Given the description of an element on the screen output the (x, y) to click on. 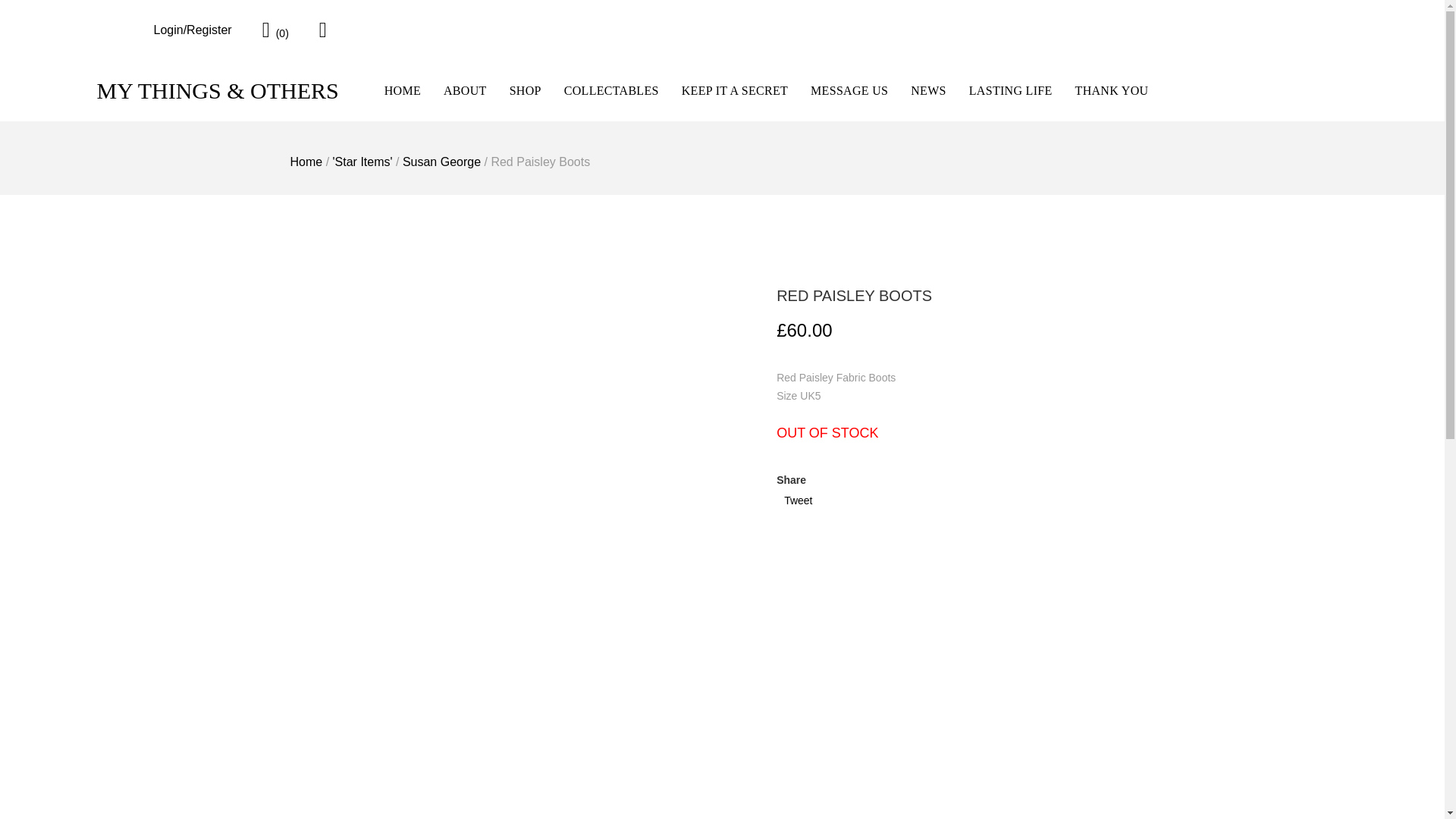
'Star Items' (363, 161)
LASTING LIFE (1010, 90)
Login (191, 29)
NEWS (928, 90)
Search (33, 20)
THANK YOU (1111, 90)
ABOUT (465, 90)
Home (305, 161)
HOME (402, 90)
KEEP IT A SECRET (734, 90)
